Given the description of an element on the screen output the (x, y) to click on. 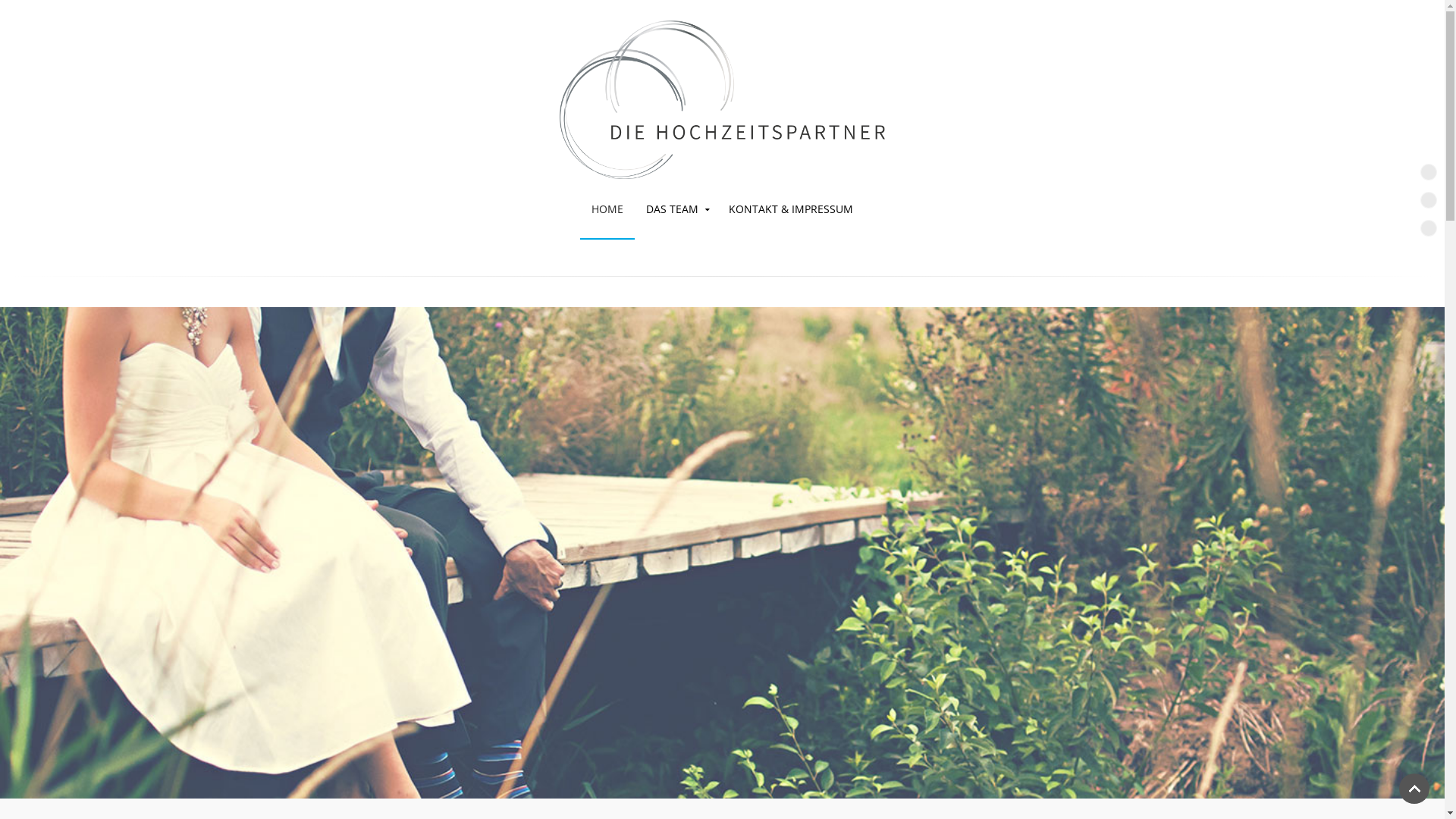
  Element type: text (721, 89)
KONTAKT & IMPRESSUM Element type: text (790, 208)
Main Content Element type: text (1428, 227)
Top B Element type: text (1428, 199)
Logo Hochzeitspartner Element type: hover (721, 99)
HOME Element type: text (607, 208)
DAS TEAM Element type: text (675, 208)
Top A Element type: text (1428, 171)
